Given the description of an element on the screen output the (x, y) to click on. 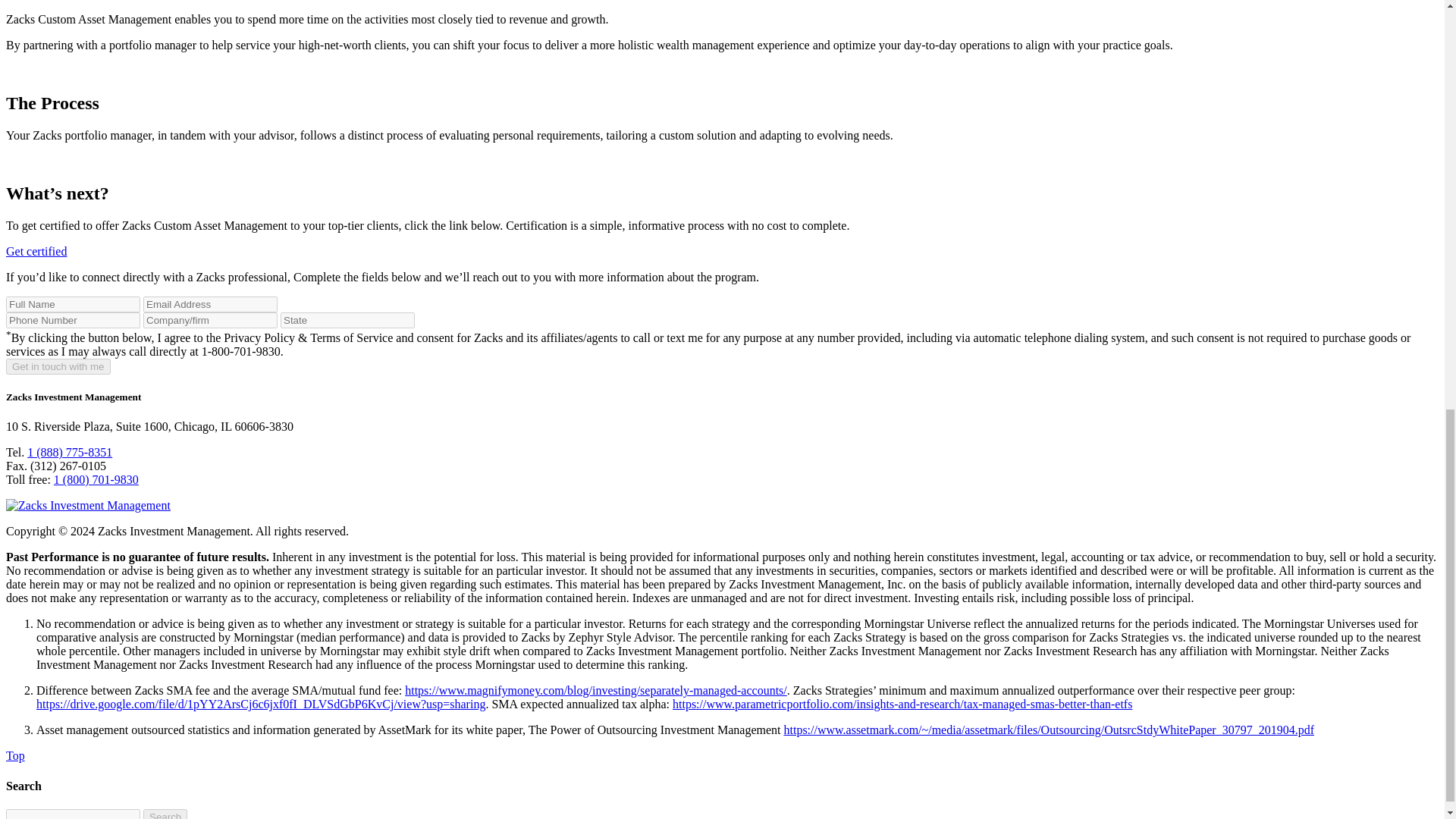
Top (14, 755)
Get in touch with me (57, 366)
Get in touch with me (57, 366)
Get certified (35, 250)
